Given the description of an element on the screen output the (x, y) to click on. 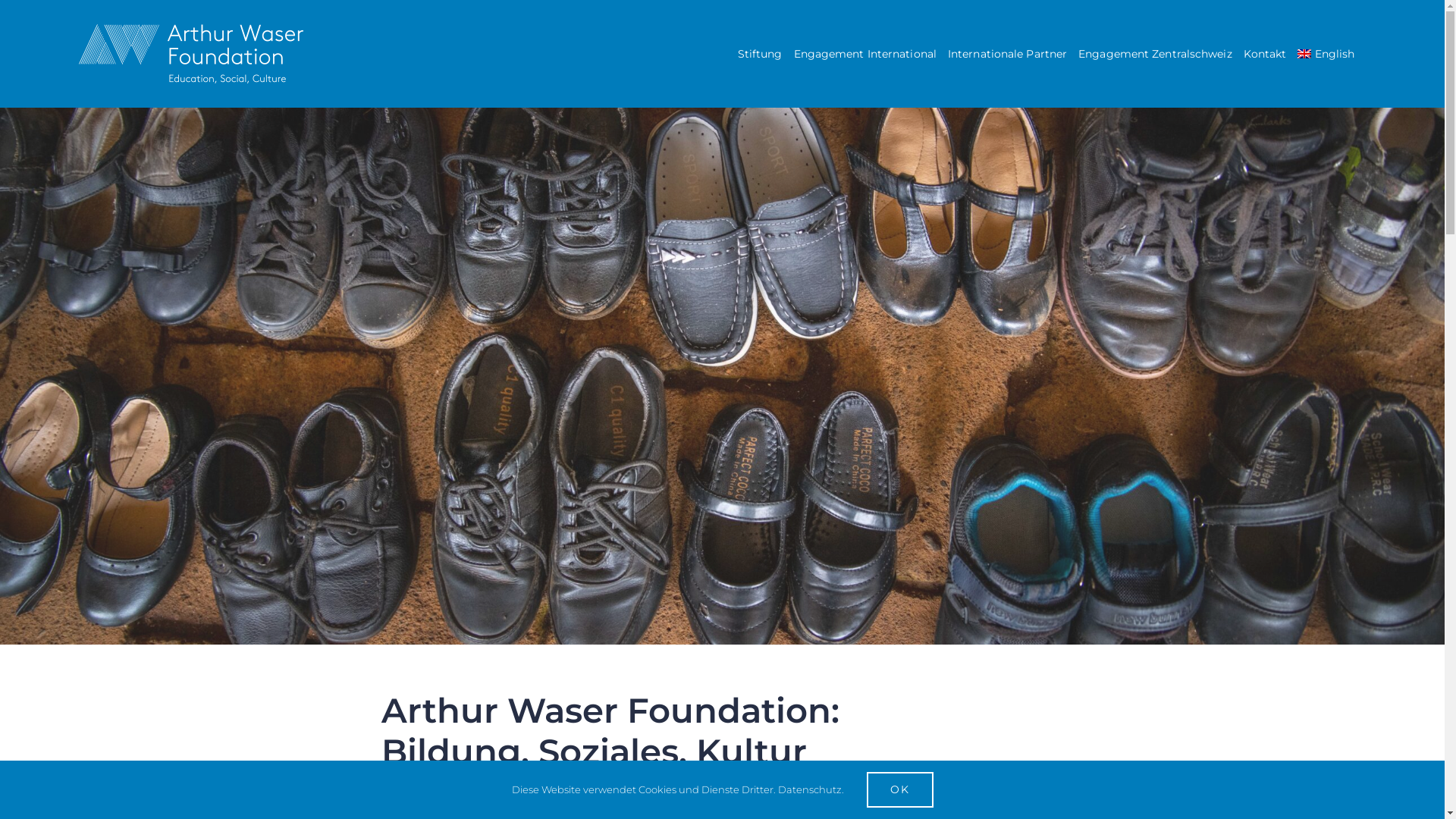
Datenschutz. Element type: text (811, 789)
OK Element type: text (899, 789)
English Element type: text (1325, 53)
Engagement Zentralschweiz Element type: text (1155, 53)
Kontakt Element type: text (1264, 53)
Stiftung Element type: text (759, 53)
Engagement International Element type: text (864, 53)
Internationale Partner Element type: text (1006, 53)
